Given the description of an element on the screen output the (x, y) to click on. 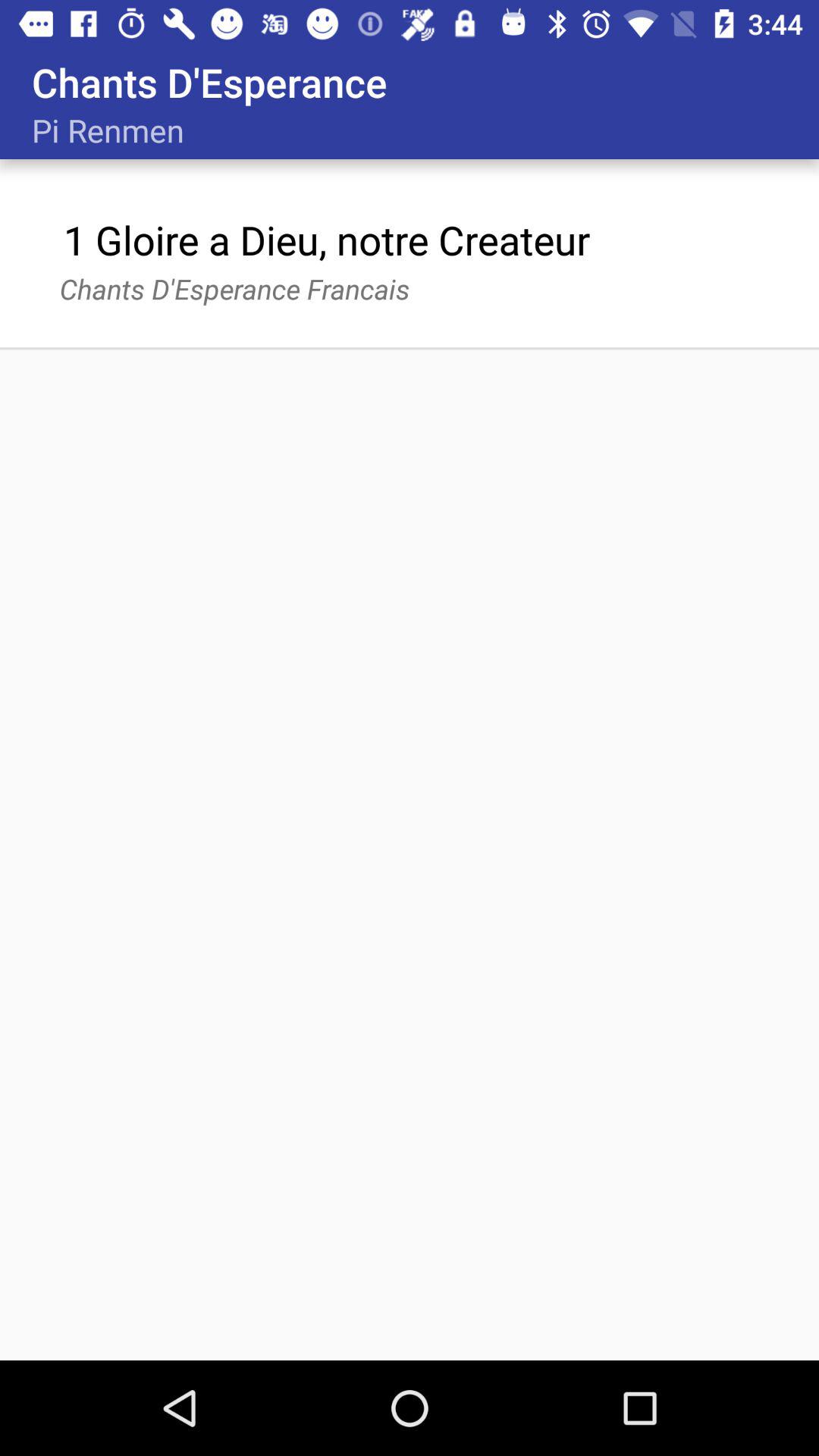
select item below pi renmen icon (326, 239)
